Given the description of an element on the screen output the (x, y) to click on. 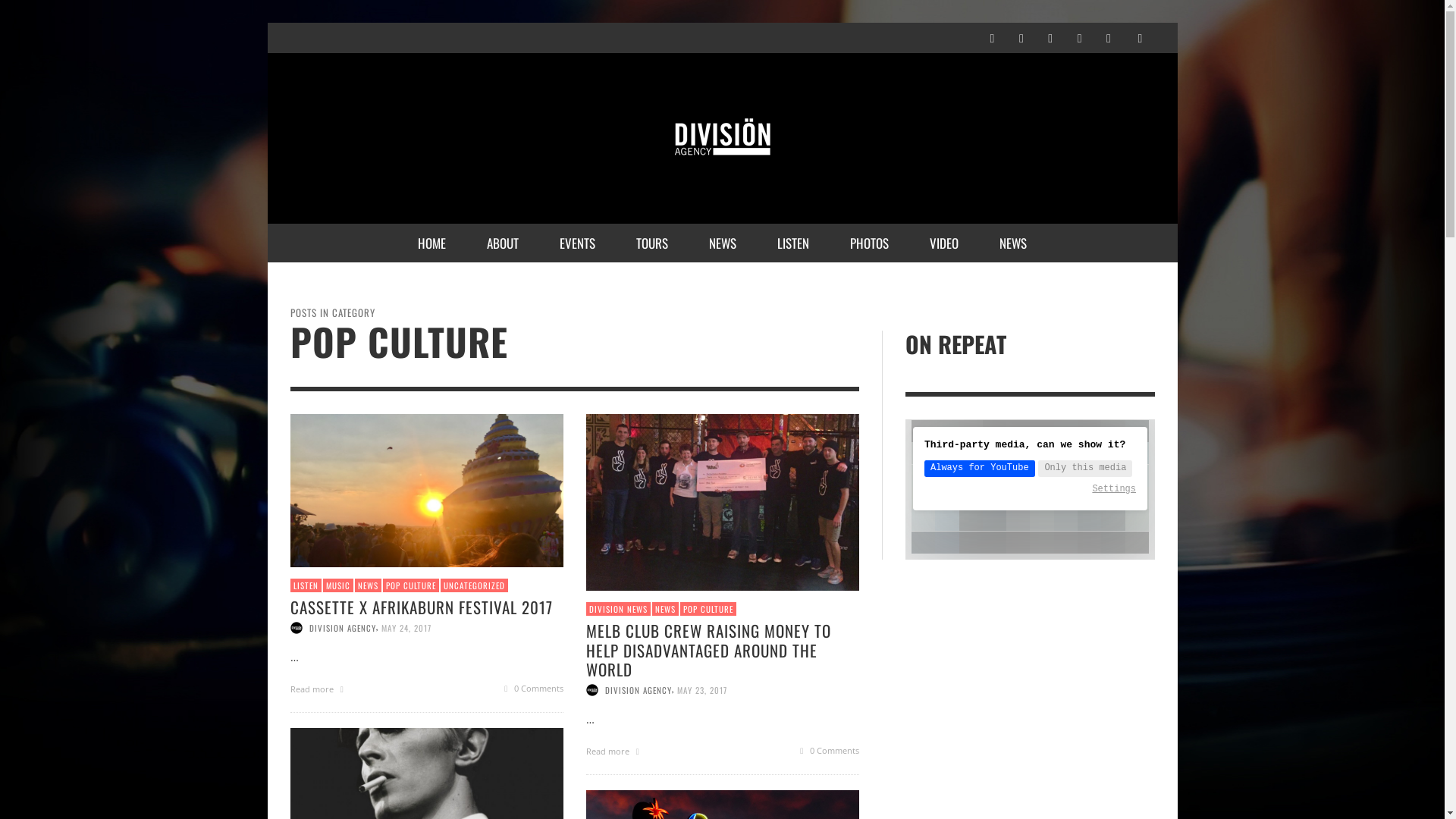
Instagram Element type: hover (1021, 37)
ABOUT Element type: text (502, 242)
DIVISION AGENCY Element type: text (638, 690)
Facebook Element type: hover (991, 37)
VIDEO Element type: text (943, 242)
UNCATEGORIZED Element type: text (473, 584)
MAY 24, 2017 Element type: text (405, 627)
Permalink to [LISTEN] 5 Awesome David Bowie Remixes. RIP Element type: hover (425, 802)
MUSIC Element type: text (338, 584)
CASSETTE X AFRIKABURN FESTIVAL 2017 Element type: text (420, 606)
Youtube Element type: hover (1108, 37)
Read more Element type: text (317, 688)
POP CULTURE Element type: text (410, 584)
Vimeo Element type: hover (1078, 37)
LISTEN Element type: text (304, 584)
Permalink to Cassette x Afrikaburn Festival 2017 Element type: hover (425, 488)
NEWS Element type: text (1012, 242)
0 Comments Element type: text (530, 688)
POP CULTURE Element type: text (707, 609)
DIVISION AGENCY Element type: text (342, 627)
0 Comments Element type: text (826, 750)
NEWS Element type: text (367, 584)
NEWS Element type: text (722, 242)
MAY 23, 2017 Element type: text (701, 690)
Read more Element type: text (613, 751)
EVENTS Element type: text (577, 242)
DIVISION NEWS Element type: text (617, 609)
TOURS Element type: text (652, 242)
HOME Element type: text (431, 242)
PHOTOS Element type: text (869, 242)
NEWS Element type: text (665, 609)
Twitter Element type: hover (1049, 37)
LISTEN Element type: text (793, 242)
